Given the description of an element on the screen output the (x, y) to click on. 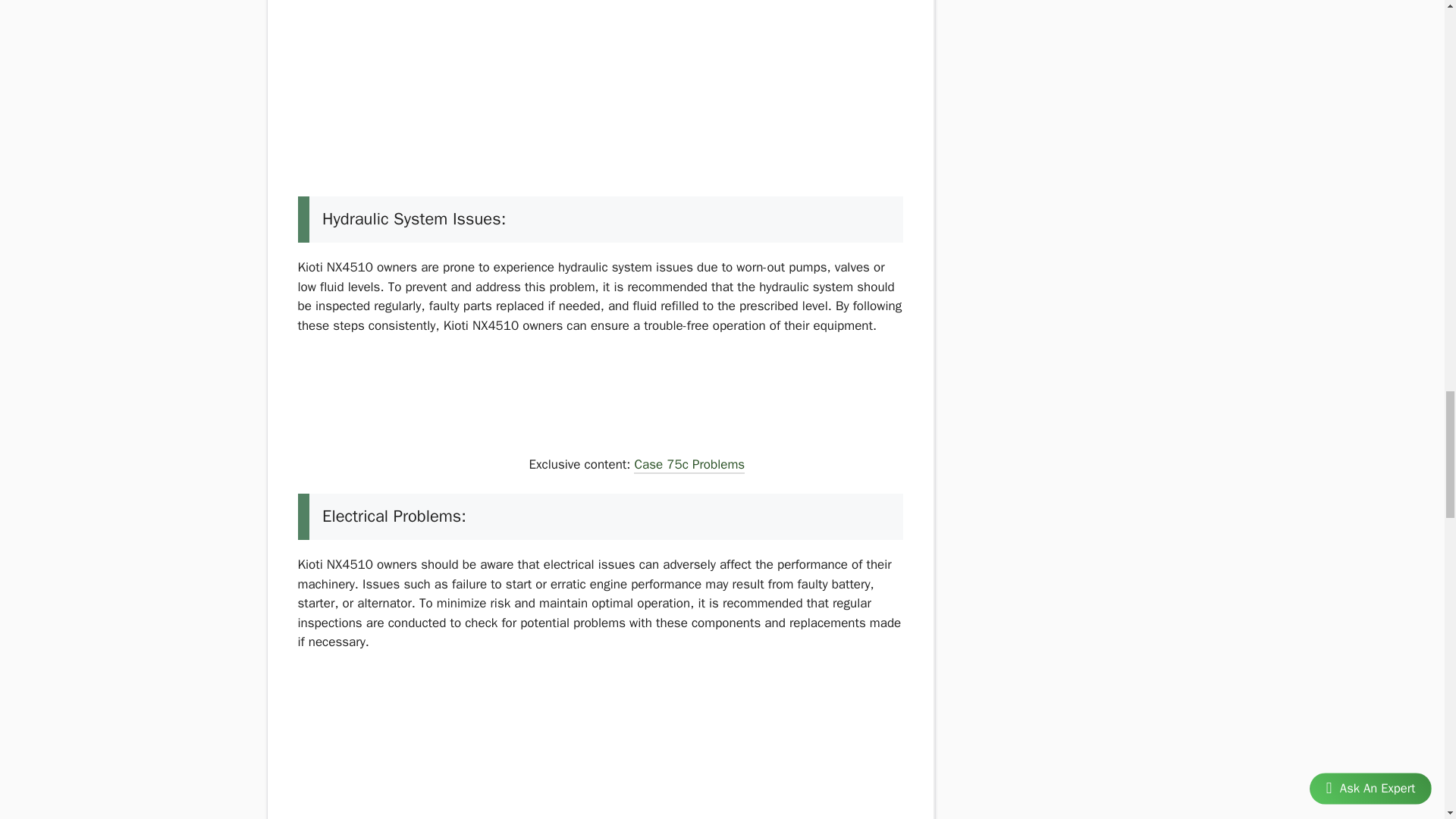
Case 75c Problems (688, 465)
kioti nx4510 problems 4 (410, 411)
